Given the description of an element on the screen output the (x, y) to click on. 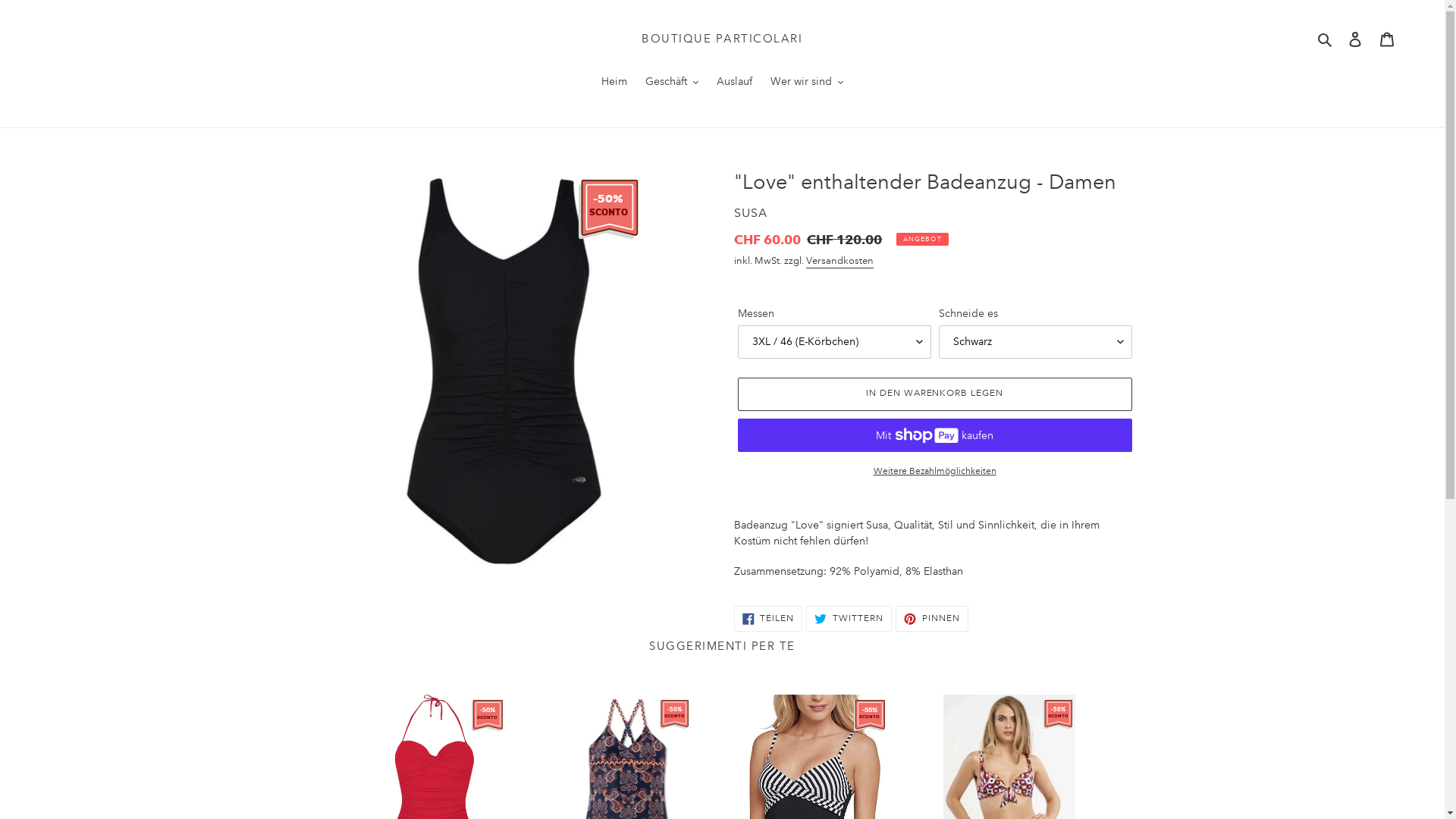
IN DEN WARENKORB LEGEN Element type: text (934, 394)
PINNEN
AUF PINTEREST PINNEN Element type: text (931, 618)
Einloggen Element type: text (1355, 38)
Heim Element type: text (613, 82)
Versandkosten Element type: text (838, 261)
Warenkorb Element type: text (1386, 38)
Suchen Element type: text (1325, 38)
BOUTIQUE PARTICOLARI Element type: text (721, 38)
Auslauf Element type: text (734, 82)
TEILEN
AUF FACEBOOK TEILEN Element type: text (768, 618)
Wer wir sind Element type: text (806, 82)
TWITTERN
AUF TWITTER TWITTERN Element type: text (848, 618)
